Given the description of an element on the screen output the (x, y) to click on. 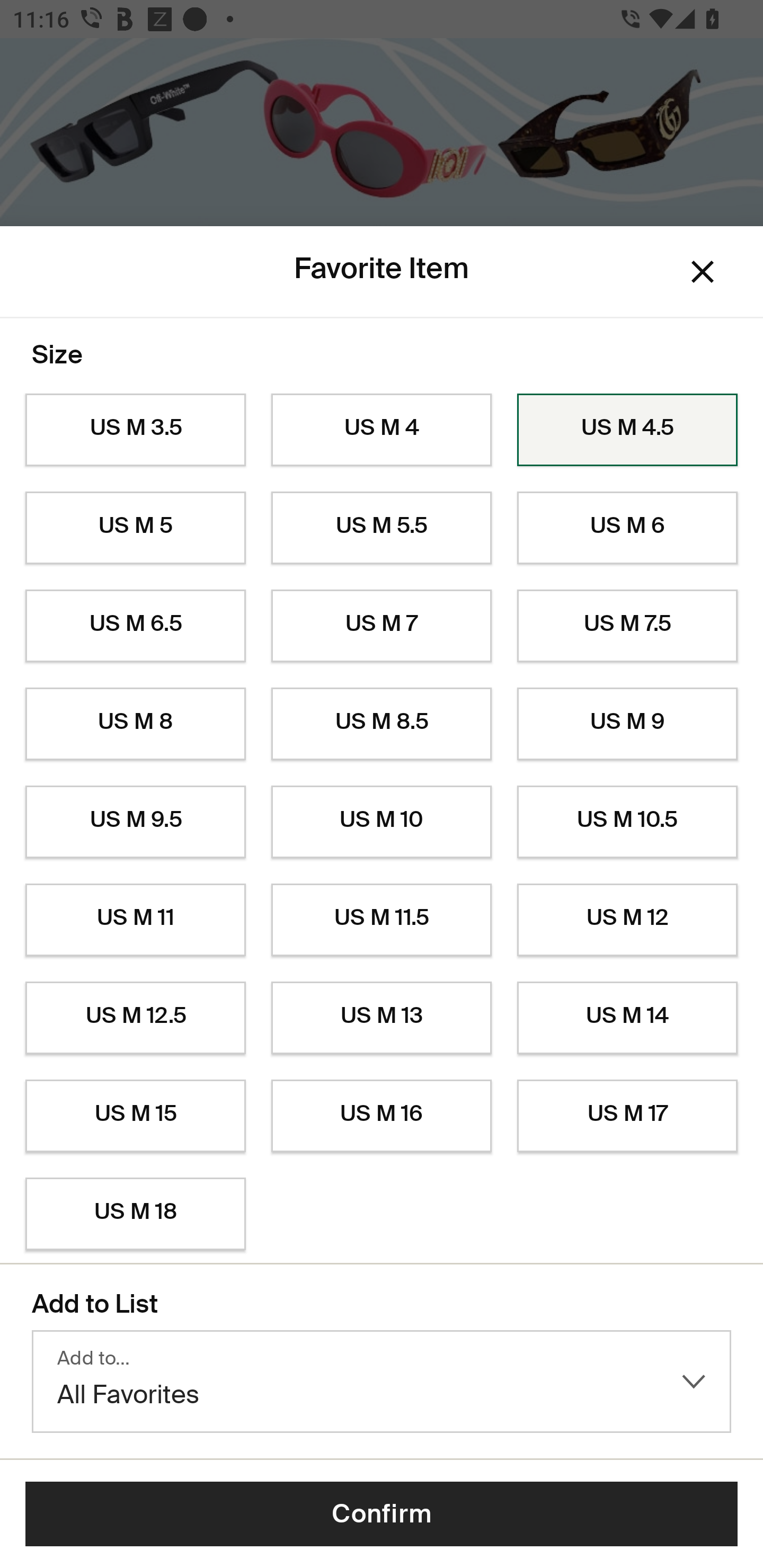
Dismiss (702, 271)
US M 3.5 (135, 430)
US M 4 (381, 430)
US M 4.5 (627, 430)
US M 5 (135, 527)
US M 5.5 (381, 527)
US M 6 (627, 527)
US M 6.5 (135, 626)
US M 7 (381, 626)
US M 7.5 (627, 626)
US M 8 (135, 724)
US M 8.5 (381, 724)
US M 9 (627, 724)
US M 9.5 (135, 822)
US M 10 (381, 822)
US M 10.5 (627, 822)
US M 11 (135, 919)
US M 11.5 (381, 919)
US M 12 (627, 919)
US M 12.5 (135, 1018)
US M 13 (381, 1018)
US M 14 (627, 1018)
US M 15 (135, 1116)
US M 16 (381, 1116)
US M 17 (627, 1116)
US M 18 (135, 1214)
Add to… All Favorites (381, 1381)
Confirm (381, 1513)
